Given the description of an element on the screen output the (x, y) to click on. 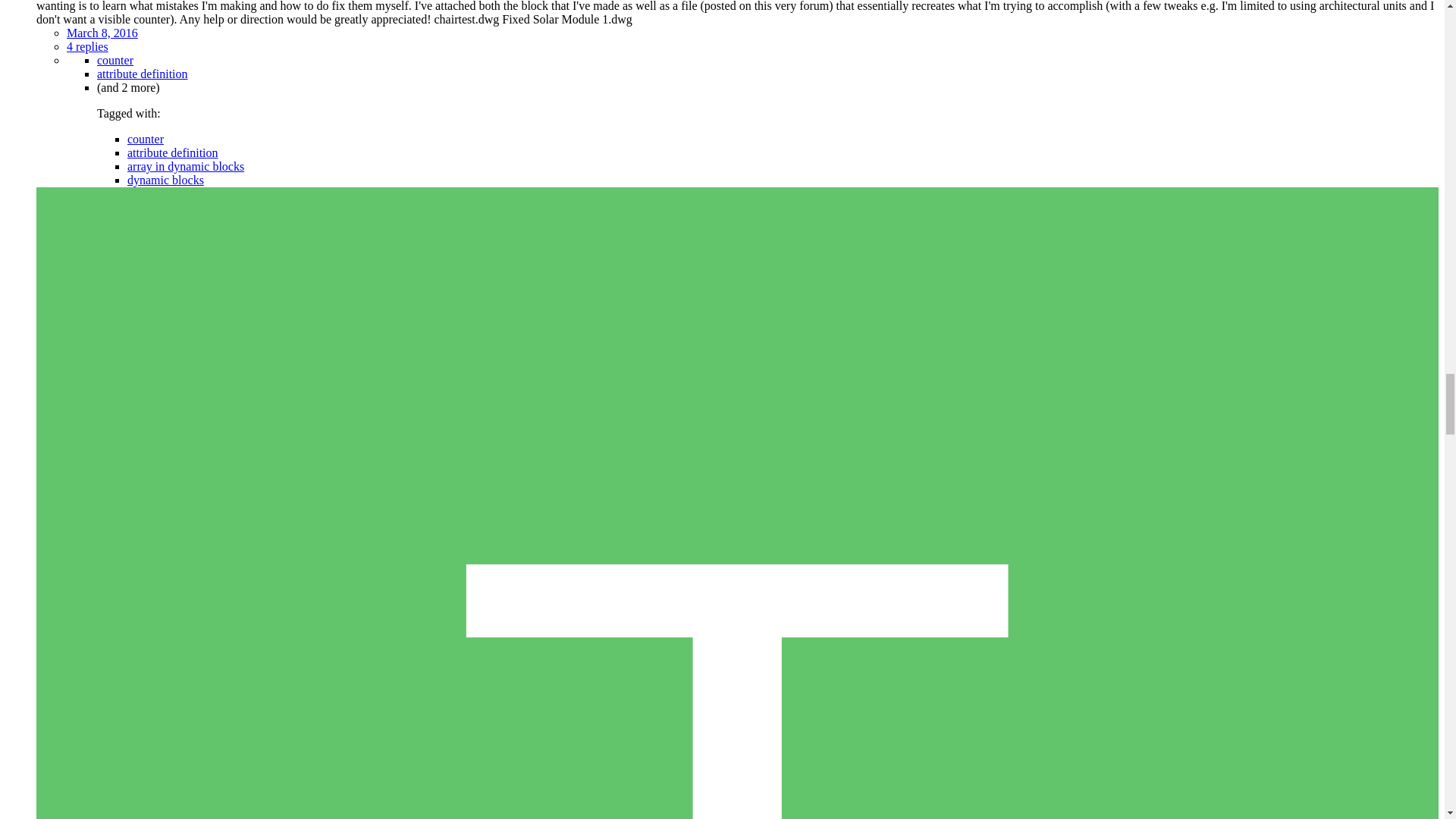
Find other content tagged with 'attribute definition' (173, 152)
Find other content tagged with 'counter' (115, 60)
Find other content tagged with 'counter' (145, 138)
Find other content tagged with 'dynamic blocks' (165, 179)
Find other content tagged with 'attribute definition' (142, 73)
Find other content tagged with 'array in dynamic blocks' (186, 165)
